Given the description of an element on the screen output the (x, y) to click on. 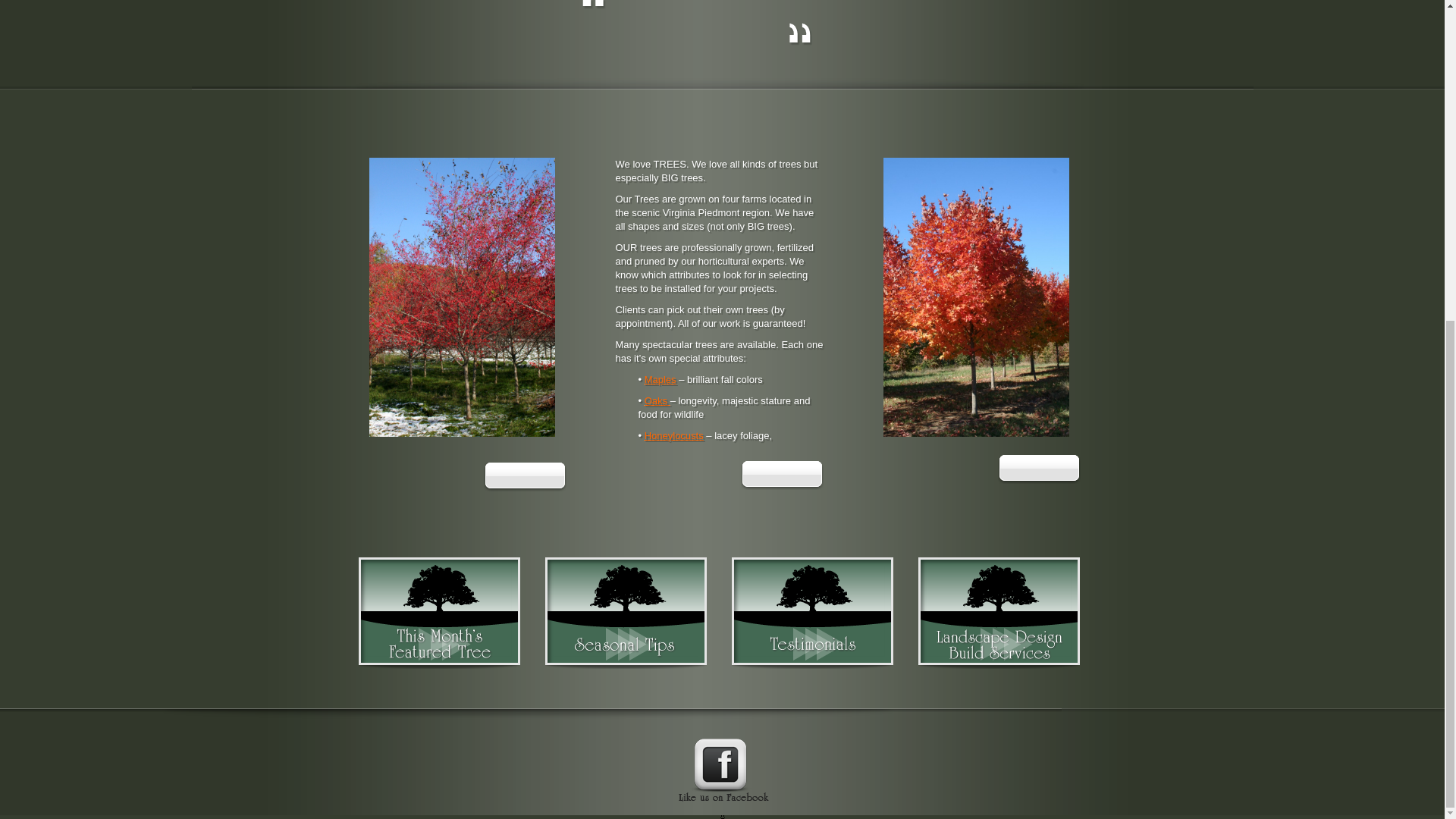
Oaks (657, 400)
Testimonials (811, 611)
Maples (661, 378)
Honeylocust  (674, 435)
